Given the description of an element on the screen output the (x, y) to click on. 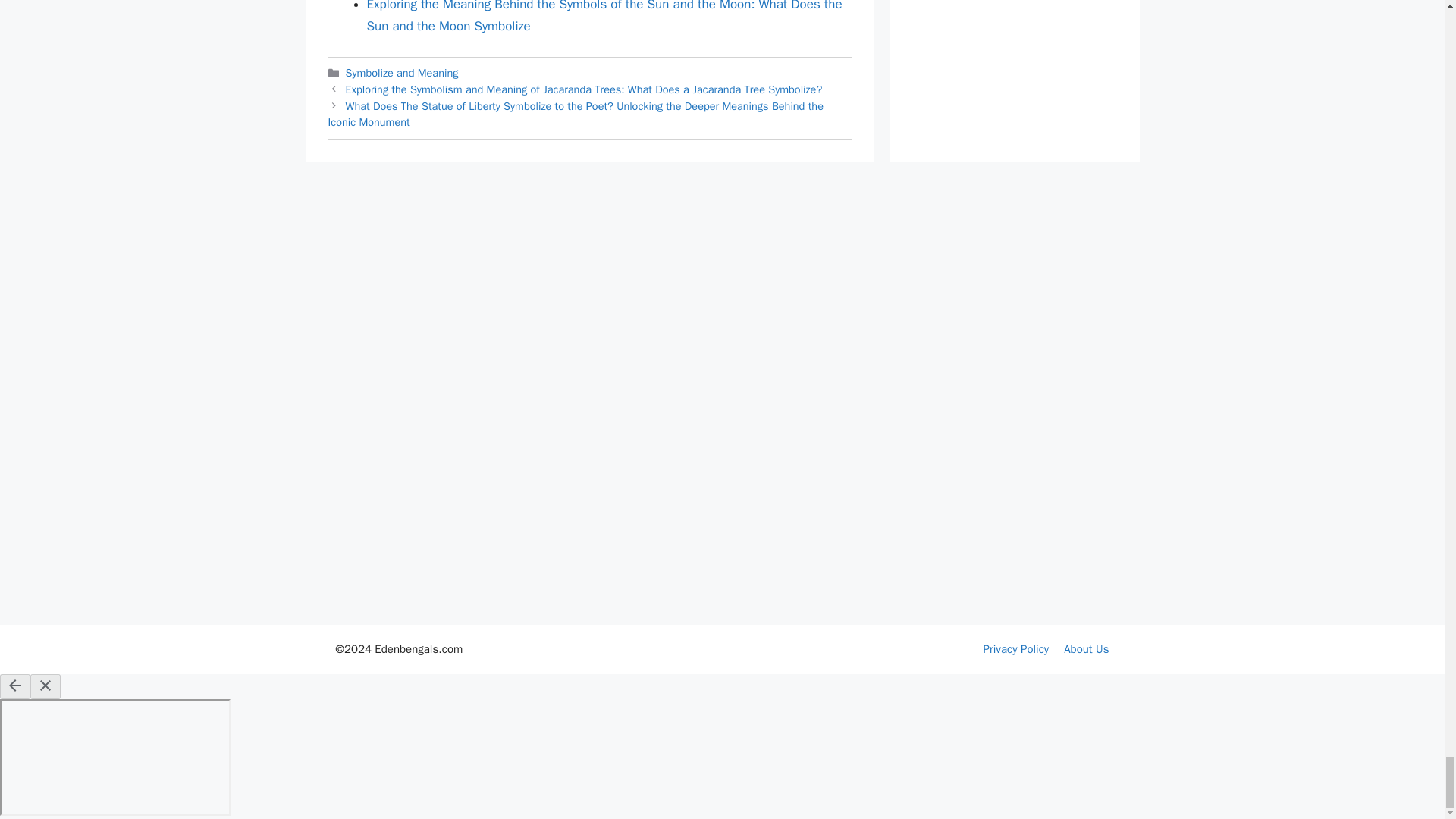
Privacy Policy (1016, 649)
Symbolize and Meaning (402, 72)
About Us (1086, 649)
